Given the description of an element on the screen output the (x, y) to click on. 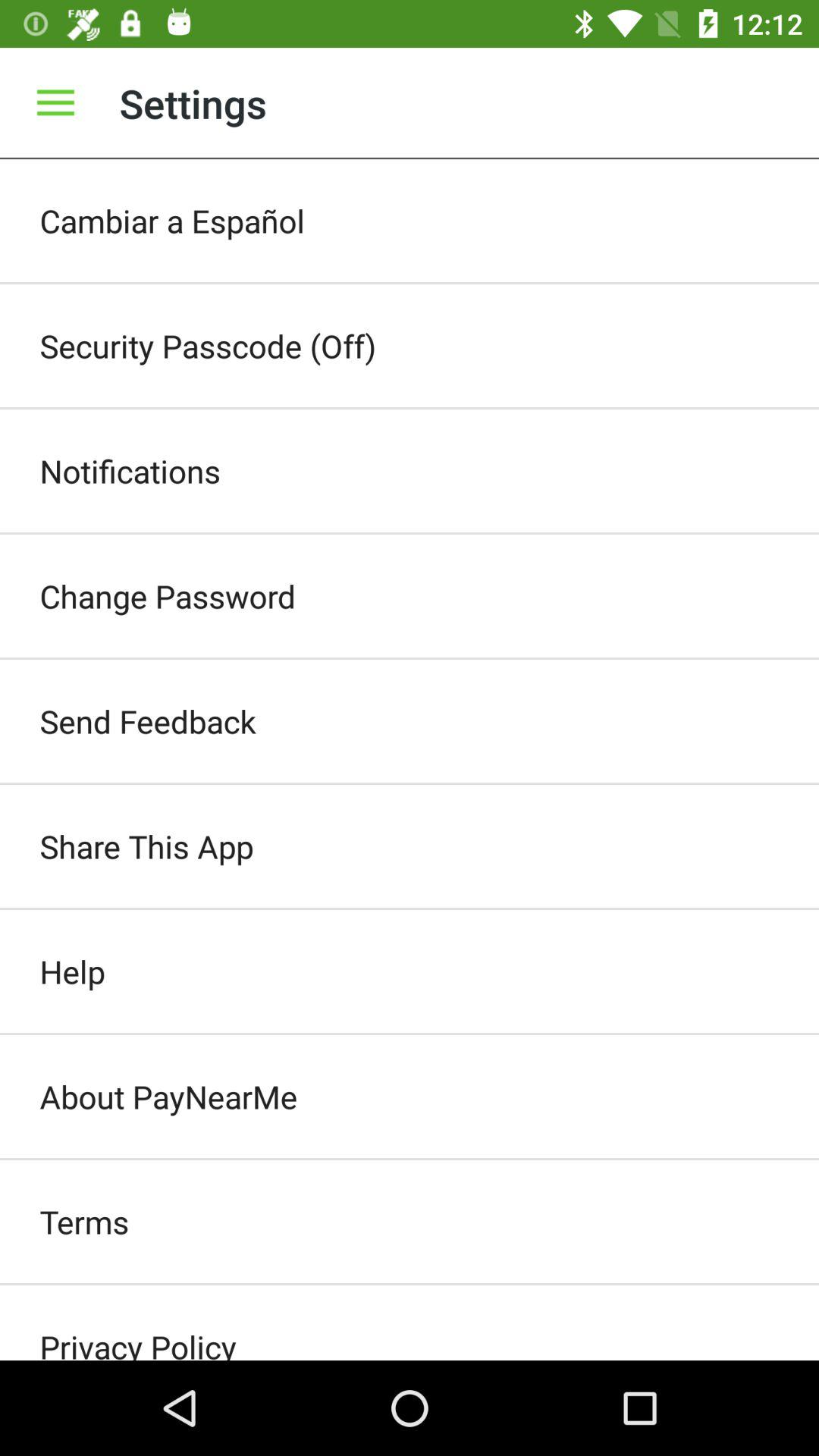
choose the share this app item (409, 845)
